Given the description of an element on the screen output the (x, y) to click on. 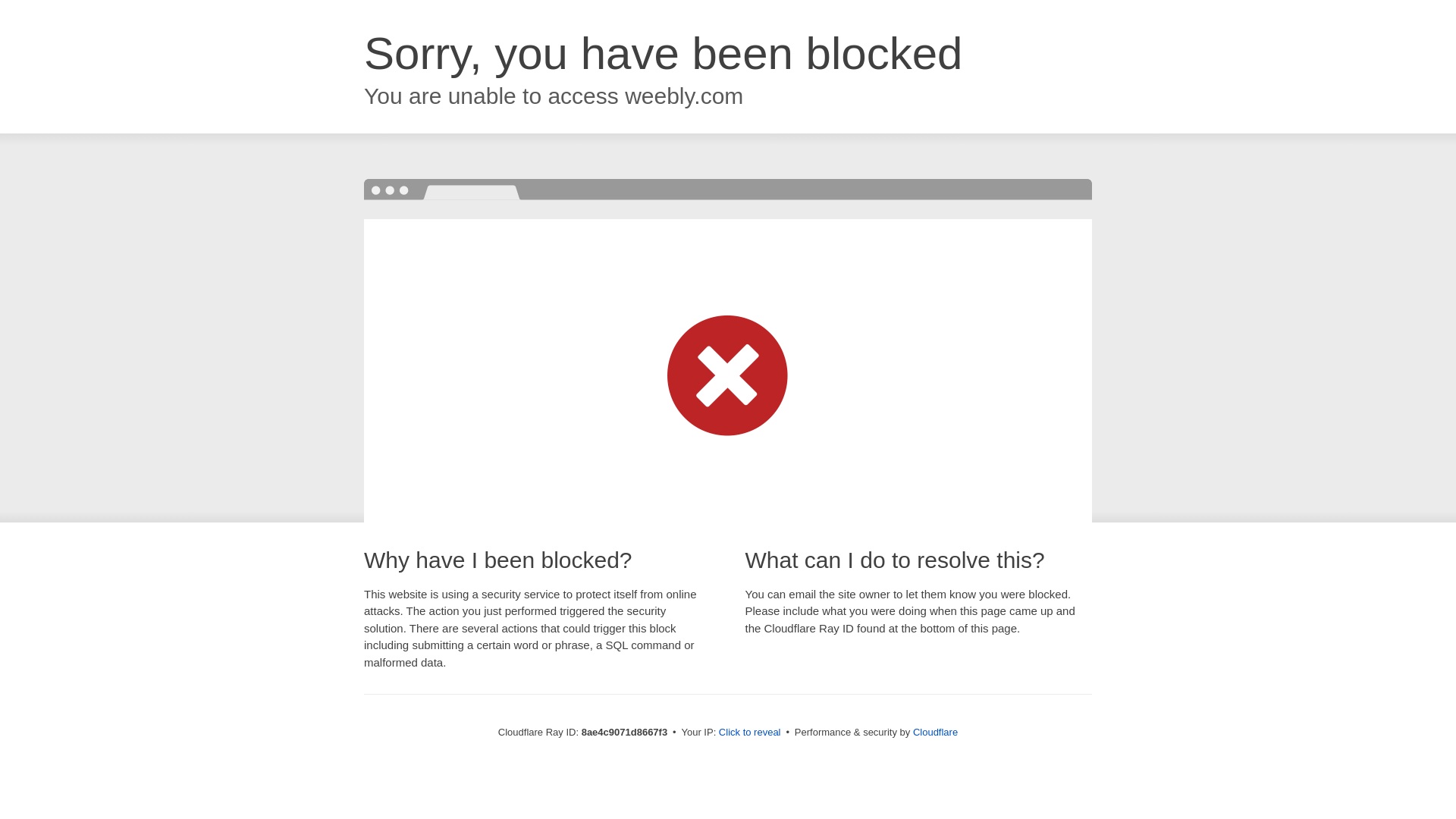
Click to reveal (749, 732)
Cloudflare (935, 731)
